Given the description of an element on the screen output the (x, y) to click on. 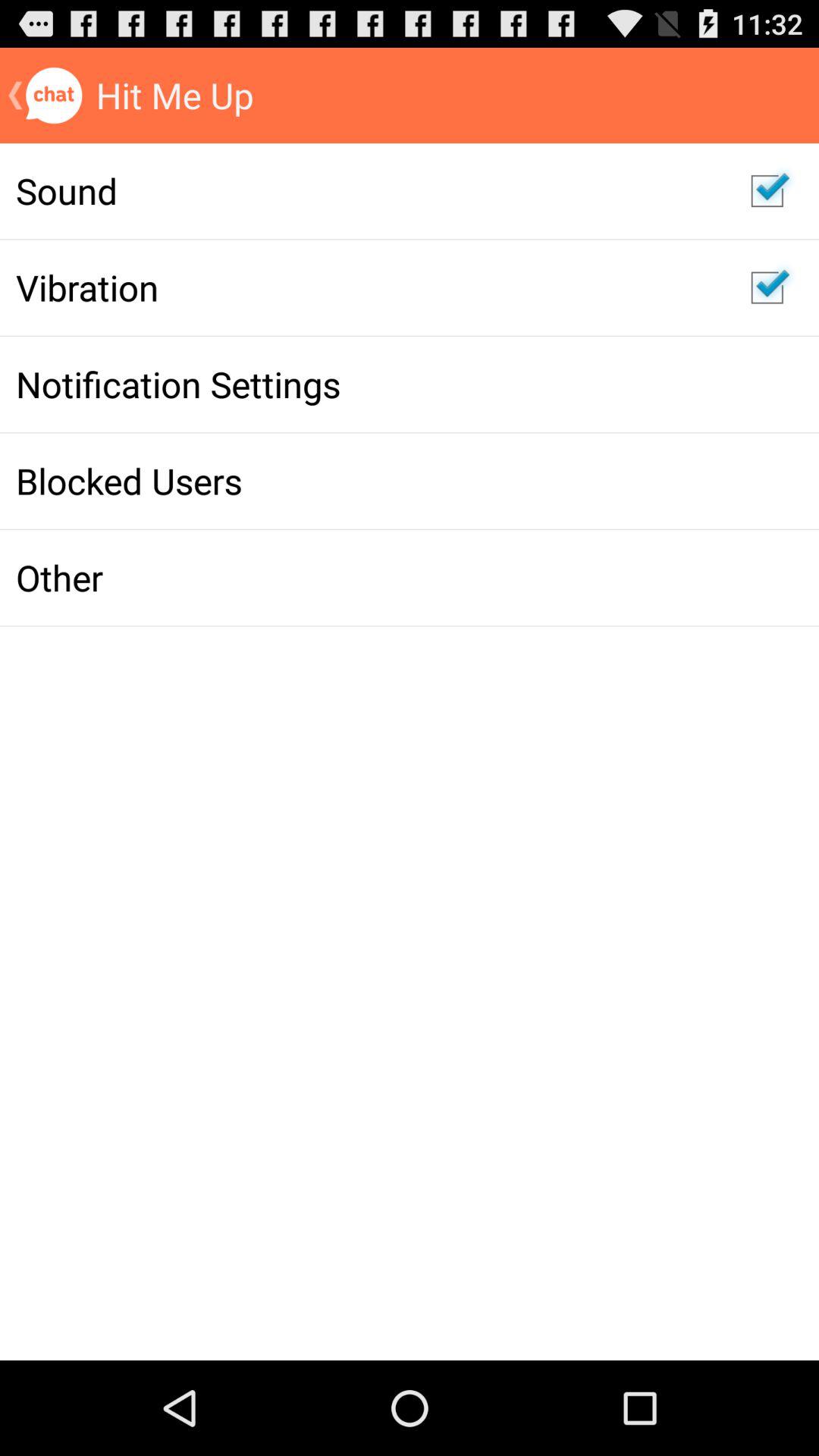
vibration mode is on (767, 287)
